Given the description of an element on the screen output the (x, y) to click on. 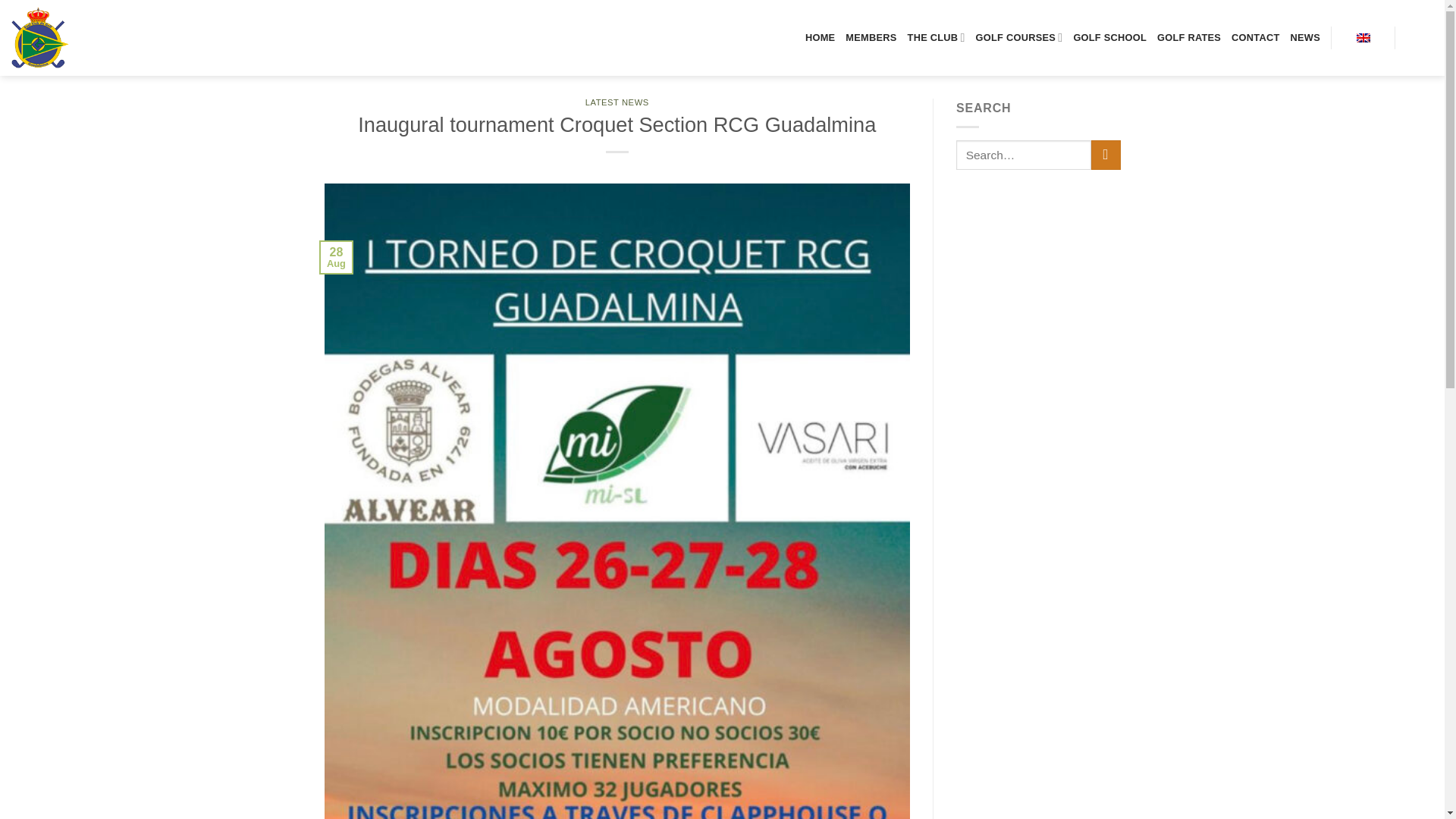
GOLF SCHOOL (1110, 37)
LATEST NEWS (617, 102)
THE CLUB (936, 37)
MEMBERS (870, 37)
GOLF RATES (1189, 37)
CONTACT (1255, 37)
HOME (819, 37)
GOLF COURSES (1018, 37)
Real Club de Golf Guadalmina (77, 37)
NEWS (1305, 37)
